Given the description of an element on the screen output the (x, y) to click on. 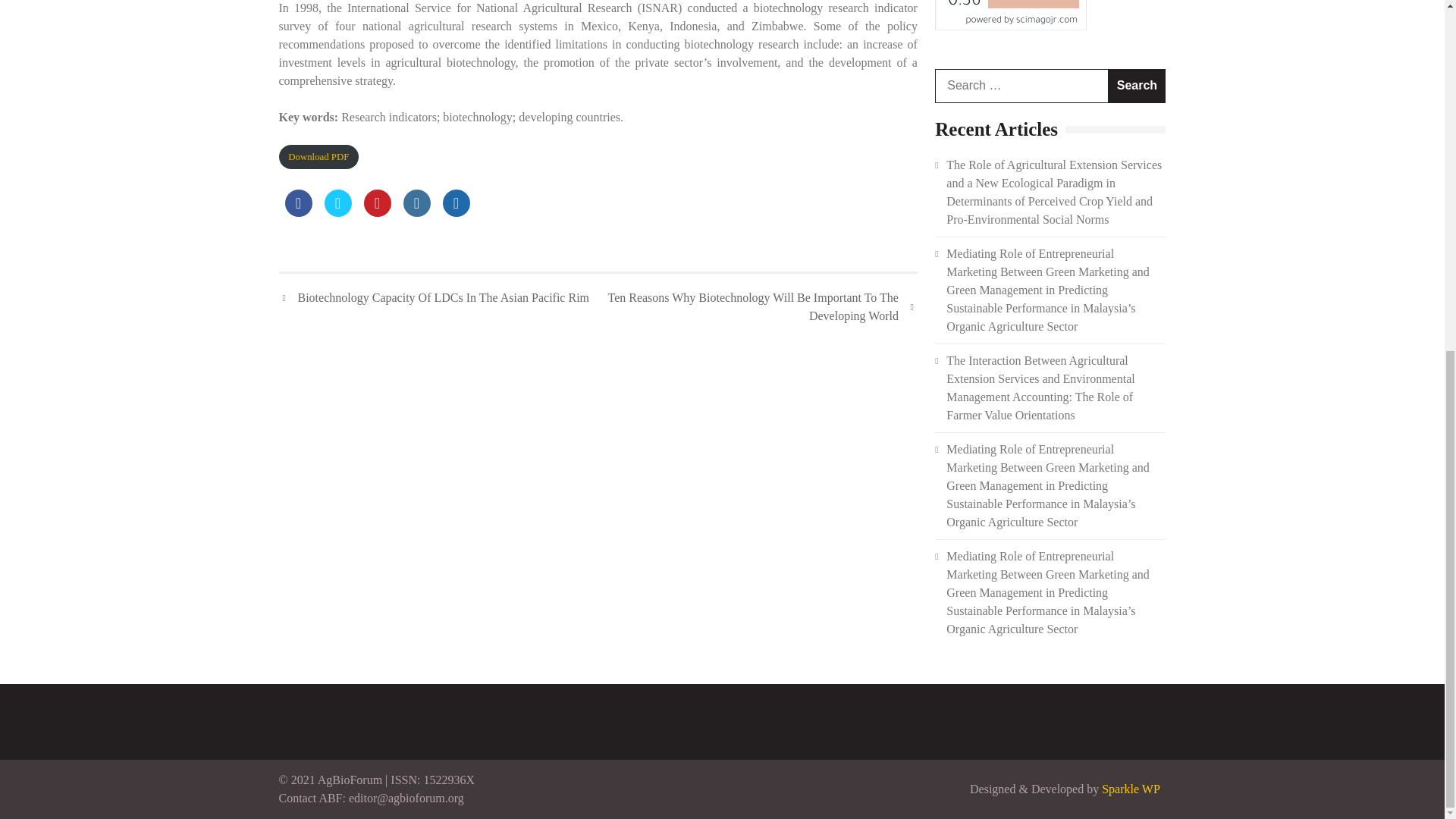
Share on Facebook (299, 212)
Share on Twitter (338, 212)
Share on LinkedIn (416, 212)
Share on Pinterest (377, 212)
Search (1137, 85)
Share on Digg (456, 212)
Search (1137, 85)
